Given the description of an element on the screen output the (x, y) to click on. 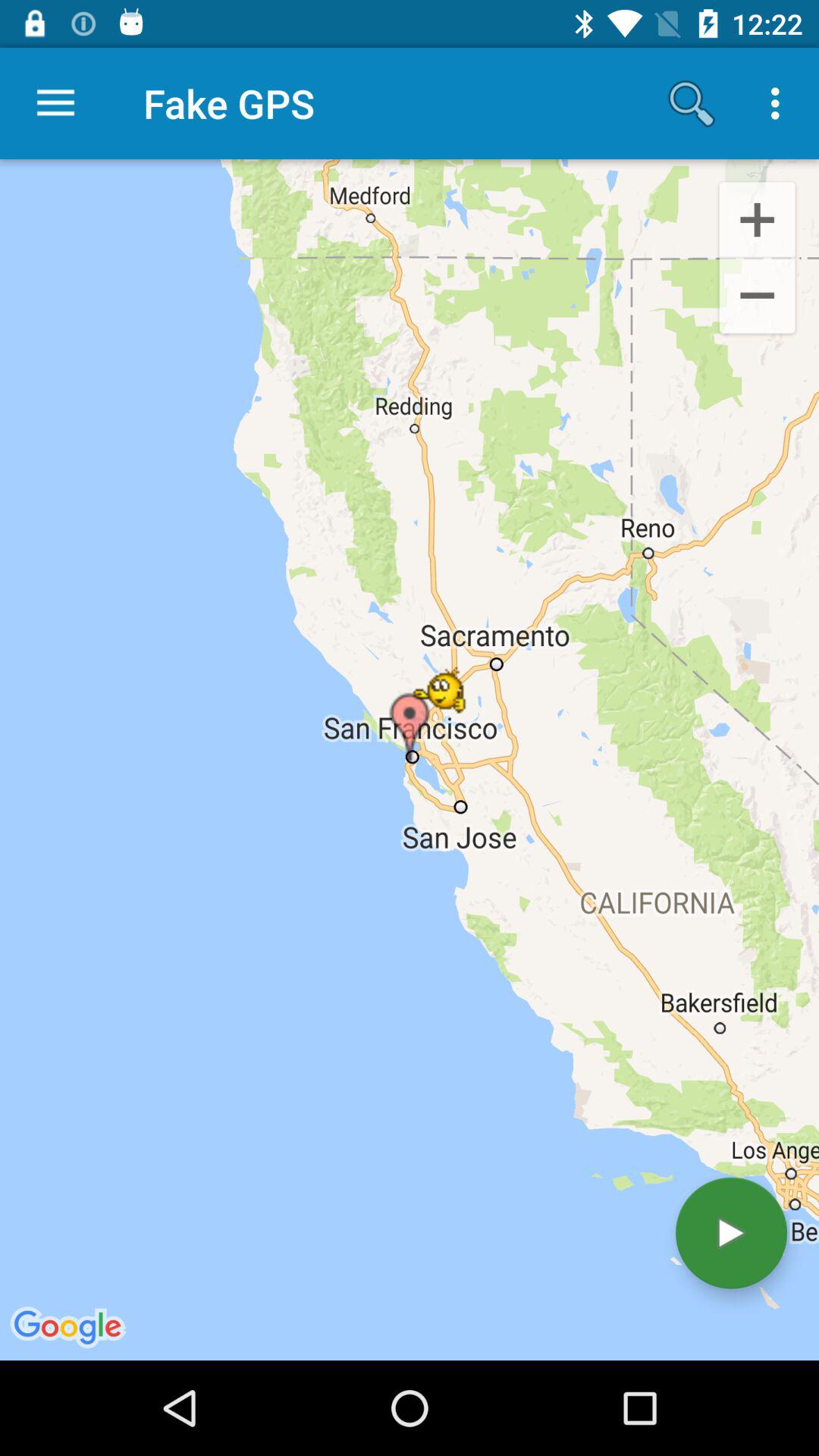
select the icon to the left of fake gps icon (55, 103)
